Given the description of an element on the screen output the (x, y) to click on. 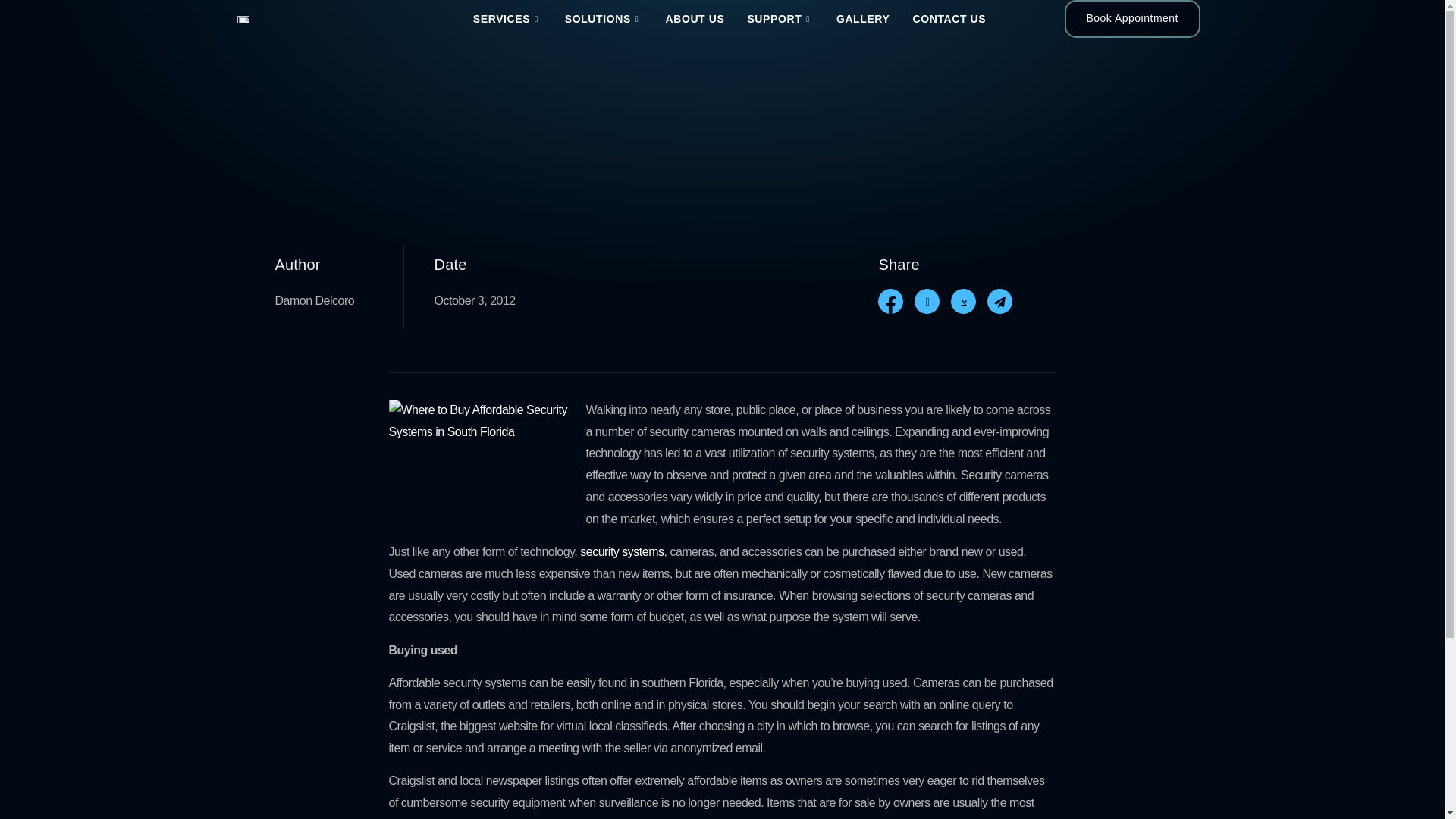
SOLUTIONS (603, 18)
Where to Buy Affordable Security Systems in South Florida (480, 468)
ABOUT US (694, 18)
SUPPORT (780, 18)
CCTV Services (507, 18)
SERVICES (507, 18)
